Given the description of an element on the screen output the (x, y) to click on. 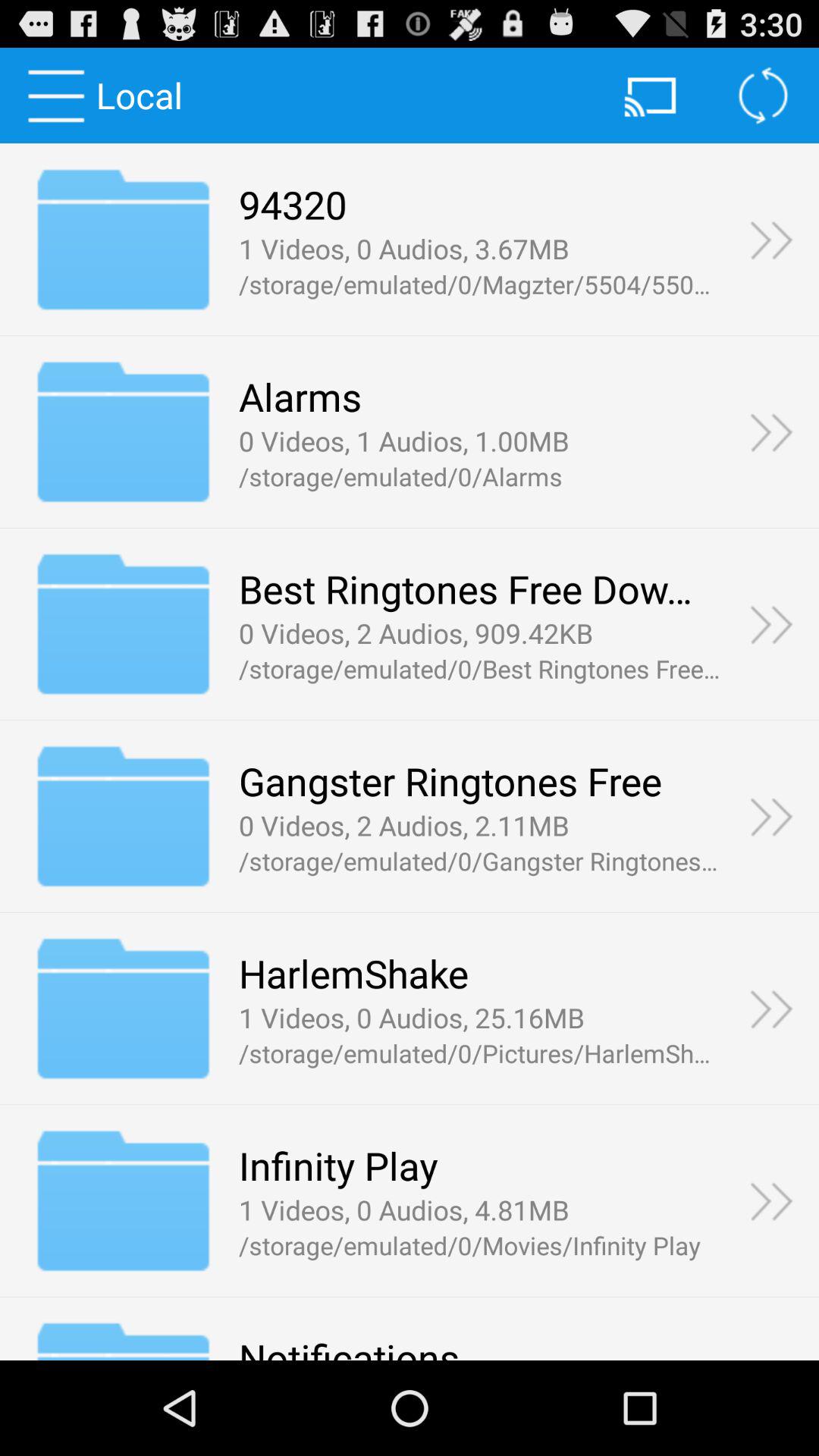
click on the icon beside refresh button (651, 95)
click on the last arrow button on the right at the bottom of the page (771, 1200)
